Given the description of an element on the screen output the (x, y) to click on. 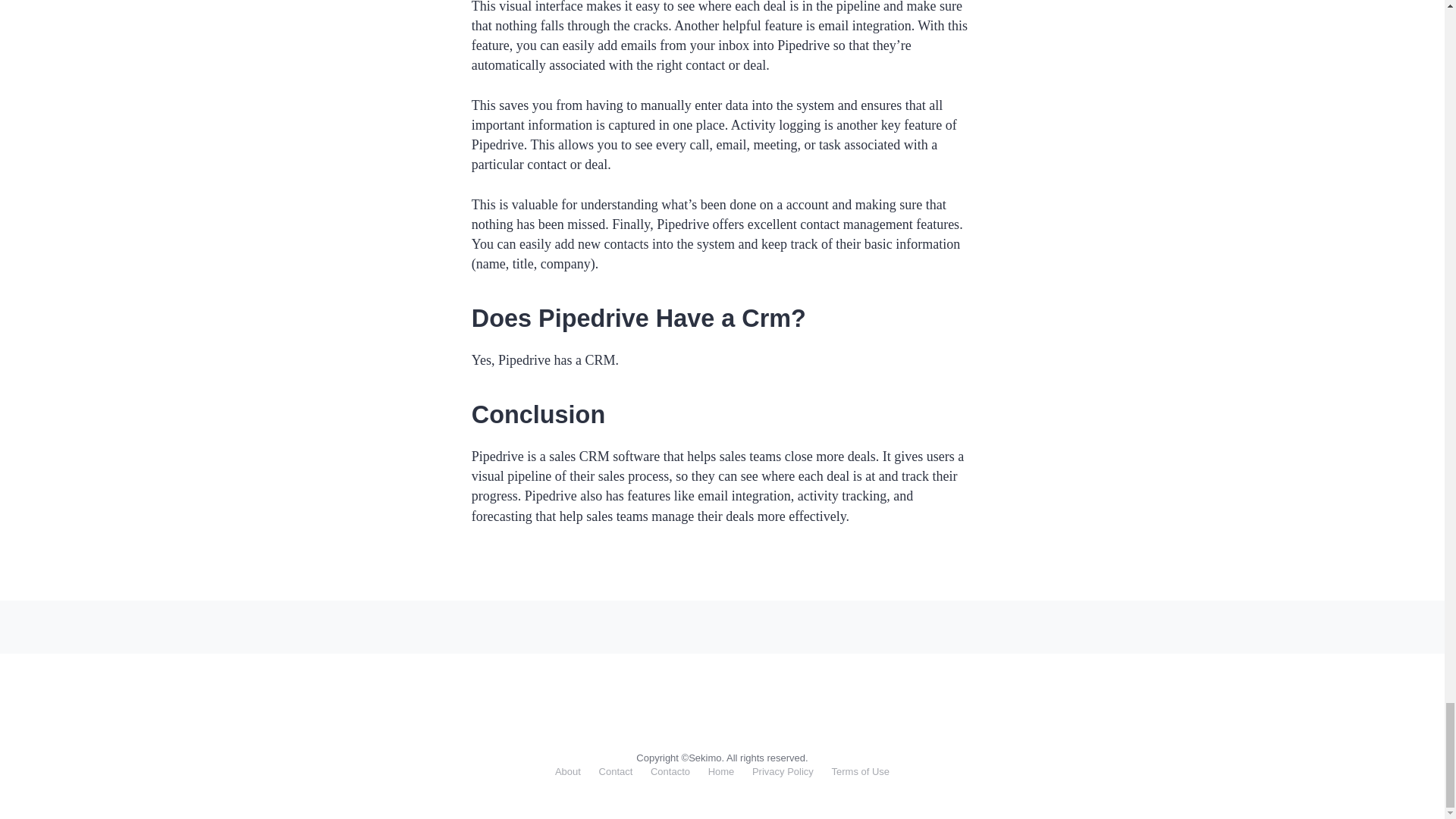
Contacto (670, 771)
Home (721, 771)
About (567, 771)
Contact (615, 771)
Privacy Policy (782, 771)
Terms of Use (860, 771)
